Given the description of an element on the screen output the (x, y) to click on. 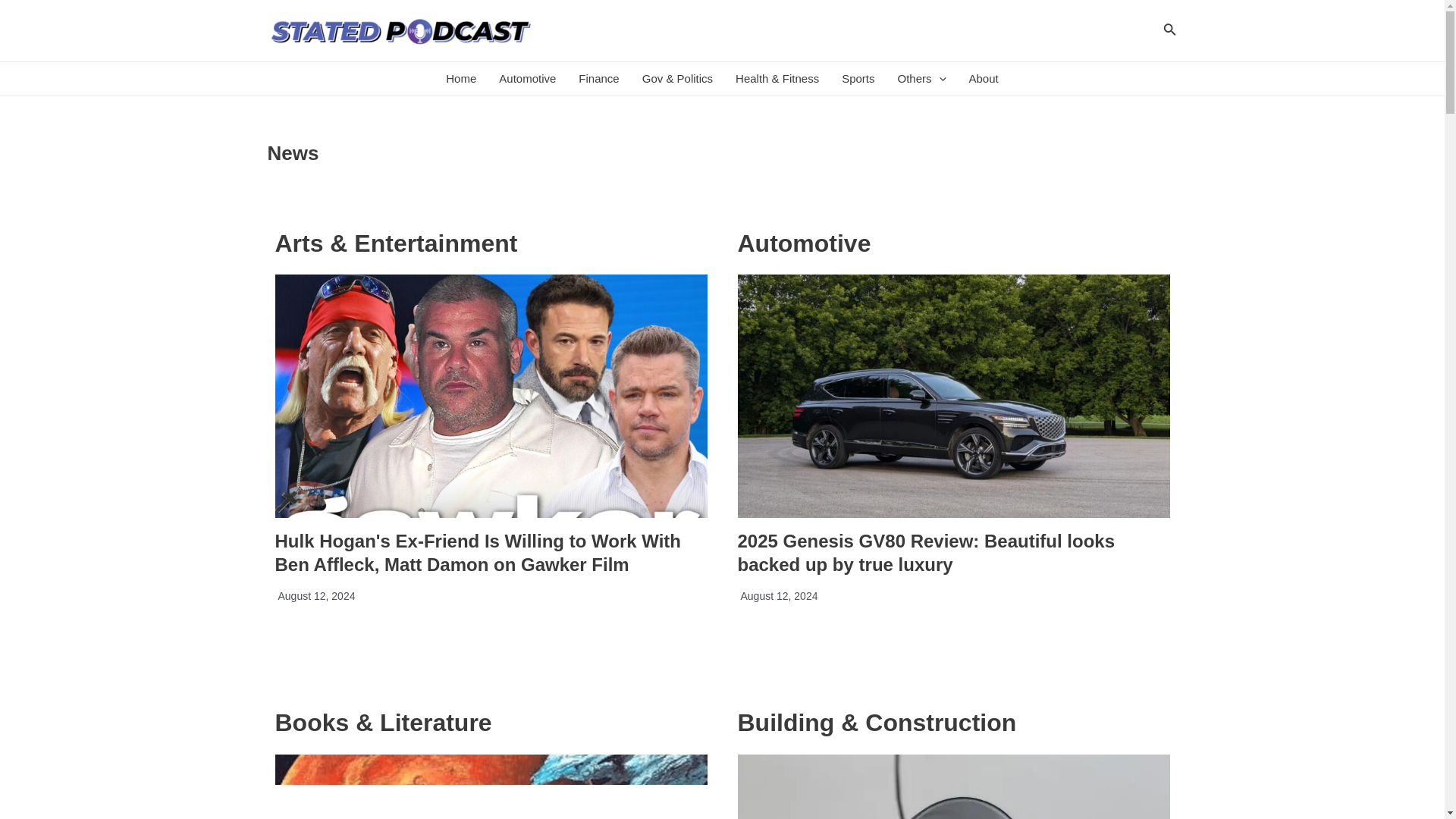
Others (920, 78)
Finance (598, 78)
Home (460, 78)
Automotive (527, 78)
About (984, 78)
Sports (857, 78)
